Given the description of an element on the screen output the (x, y) to click on. 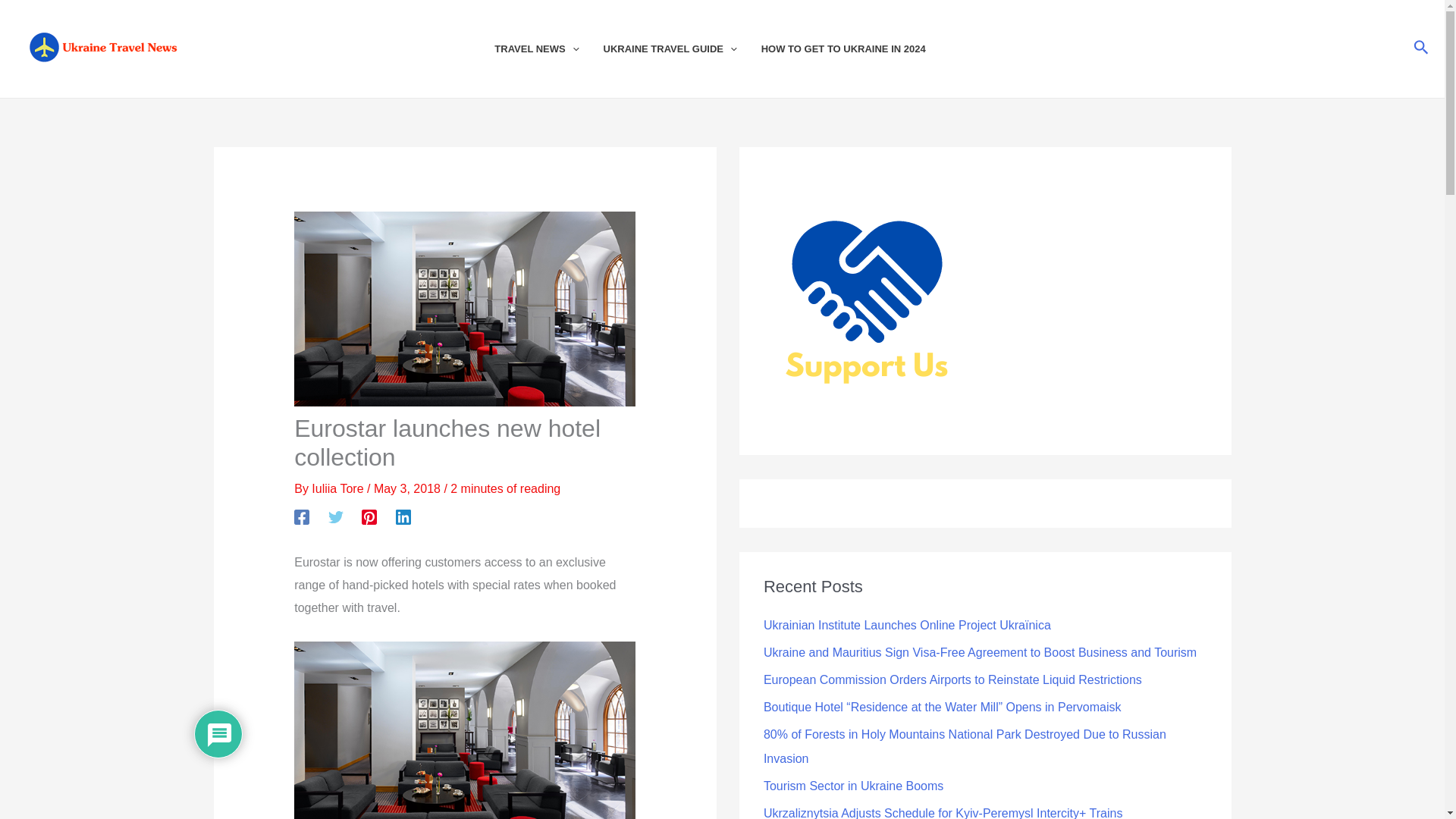
UKRAINE TRAVEL GUIDE (682, 48)
HOW TO GET TO UKRAINE IN 2024 (855, 48)
View all posts by Iuliia Tore (338, 488)
Iuliia Tore (338, 488)
TRAVEL NEWS (548, 48)
